Given the description of an element on the screen output the (x, y) to click on. 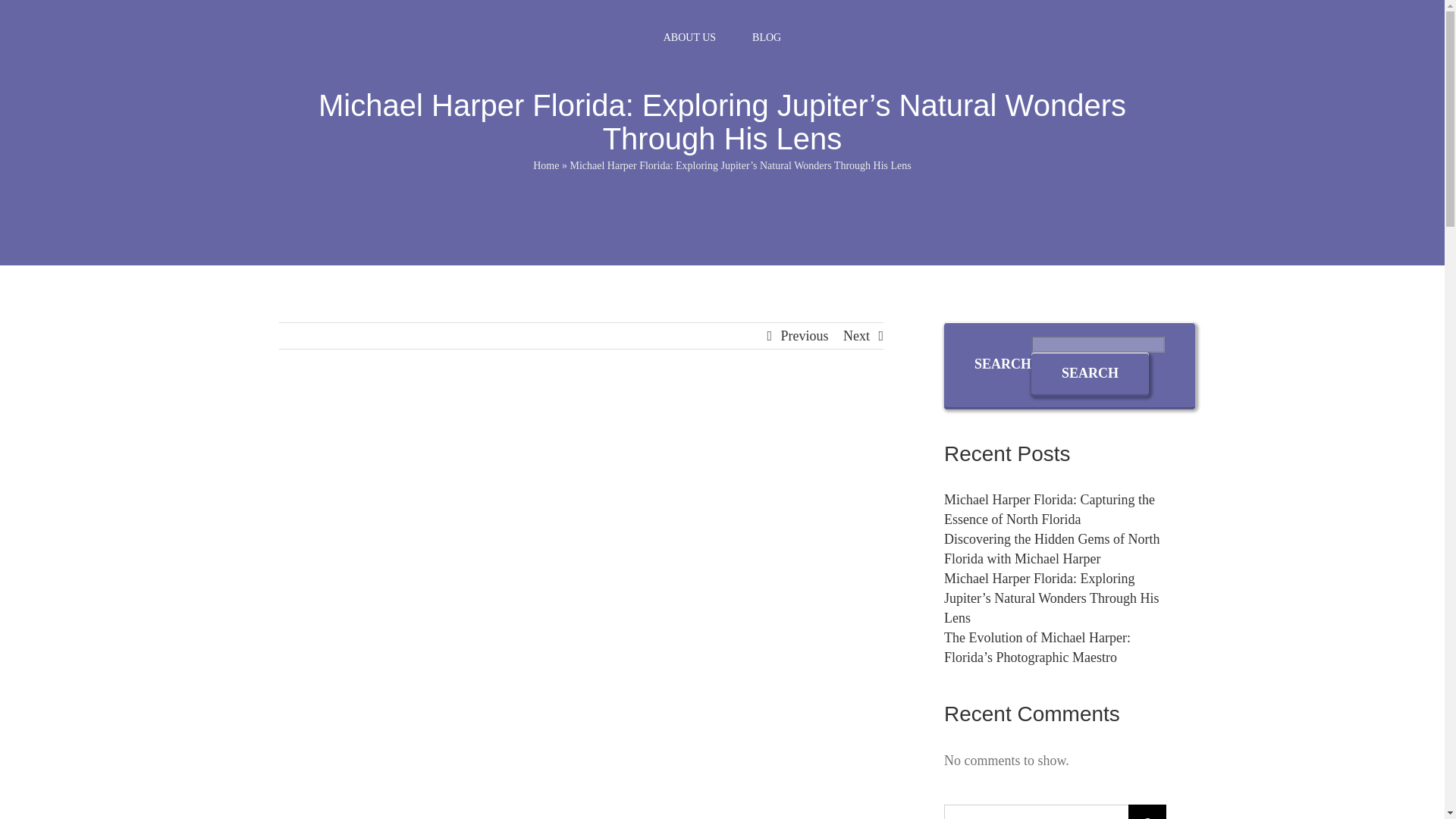
Home (545, 165)
BLOG (766, 38)
ABOUT US (689, 38)
SEARCH (1089, 372)
Previous (804, 335)
Next (856, 335)
